Given the description of an element on the screen output the (x, y) to click on. 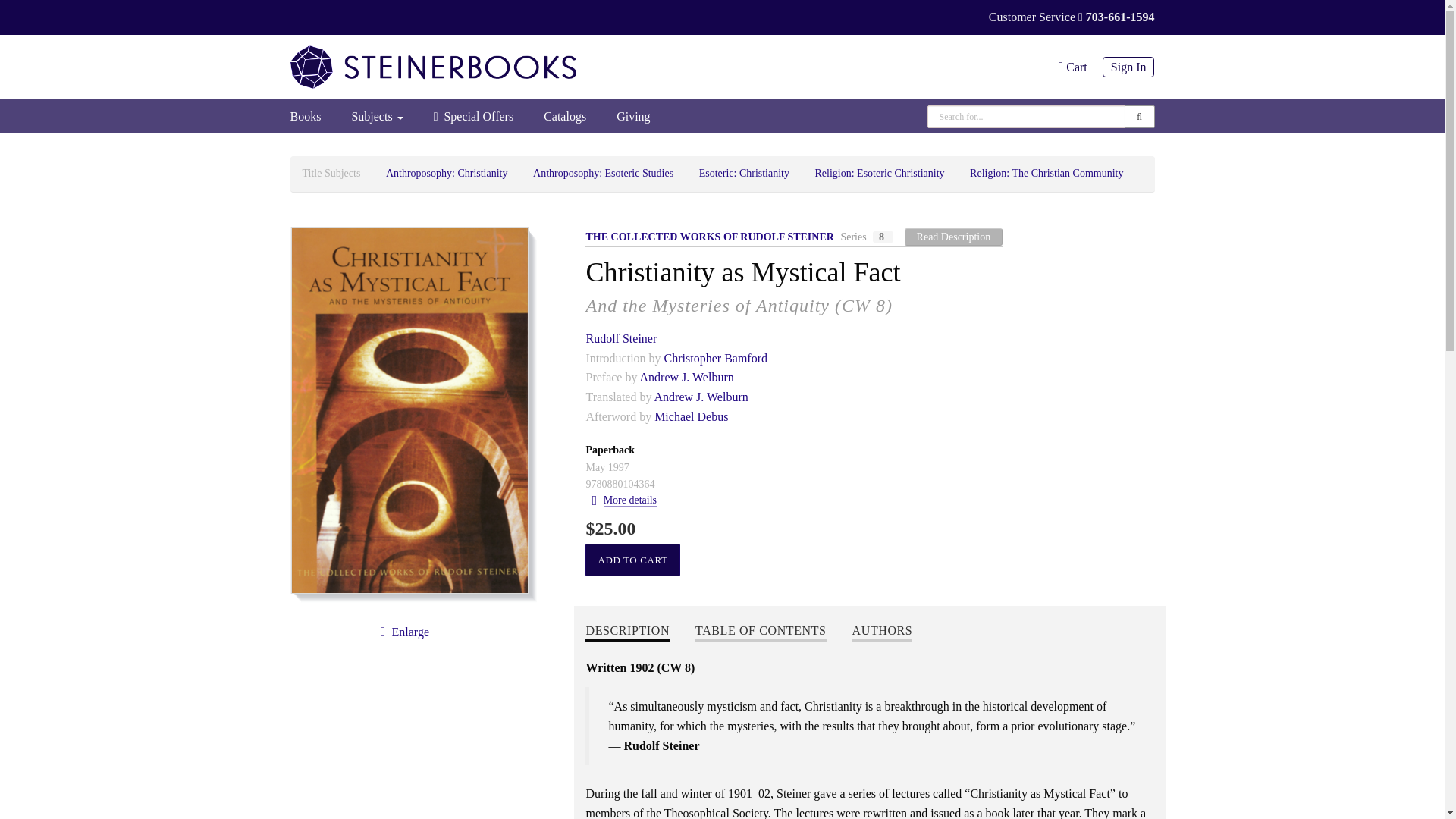
Subjects (376, 116)
Giving (633, 116)
Anthroposophy: Christianity (446, 173)
Read Description (953, 236)
Sign In (1120, 67)
Books (312, 116)
THE COLLECTED WORKS OF RUDOLF STEINER (710, 236)
Series Number (882, 236)
  Special Offers (474, 116)
Catalogs (564, 116)
Enlarge (401, 631)
Religion: Esoteric Christianity (878, 173)
Religion: The Christian Community (1045, 173)
Anthroposophy: Esoteric Studies (602, 173)
Esoteric: Christianity (743, 173)
